Given the description of an element on the screen output the (x, y) to click on. 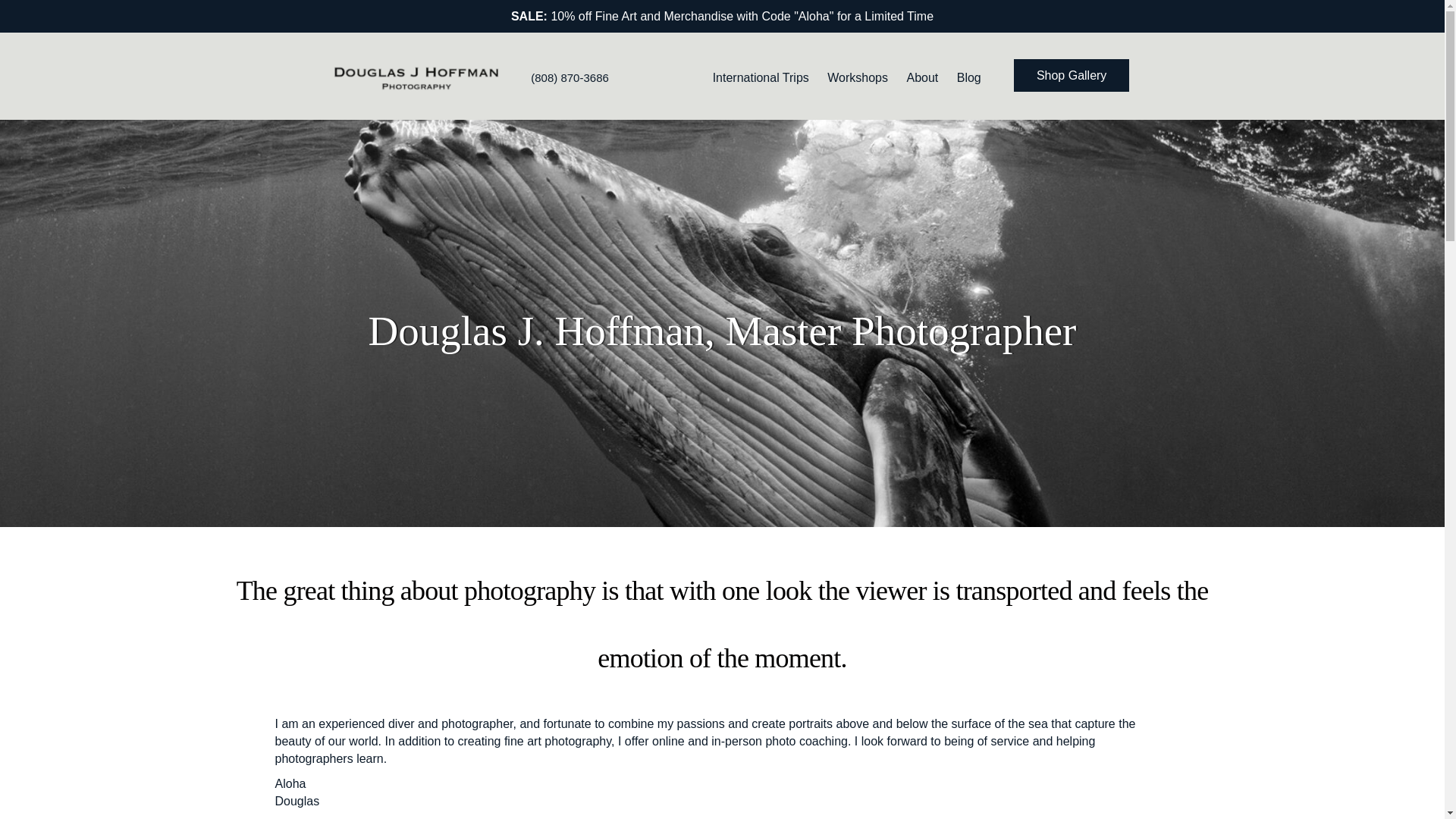
Shop Gallery (1071, 74)
International Trips (760, 77)
About (921, 77)
Workshops (857, 77)
Blog (968, 77)
